Given the description of an element on the screen output the (x, y) to click on. 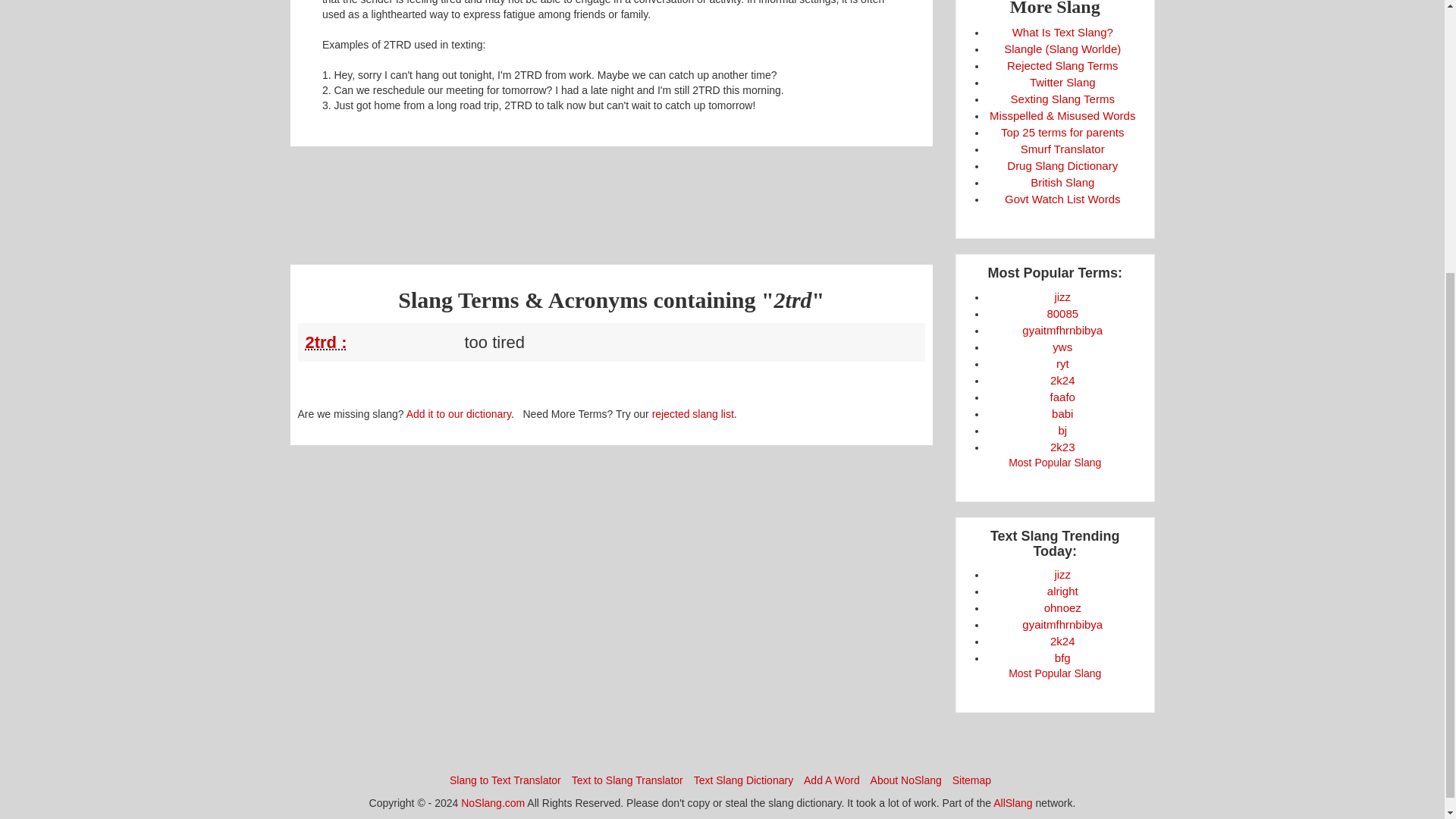
babi (1062, 413)
alright (1062, 590)
Sexting Slang Terms (1062, 98)
Smurf Translator (1062, 148)
you want sex (1061, 346)
Advertisement (610, 195)
2trd : (325, 342)
2k23 (1062, 446)
too tired (380, 341)
Drug Slang Dictionary (1062, 164)
